Given the description of an element on the screen output the (x, y) to click on. 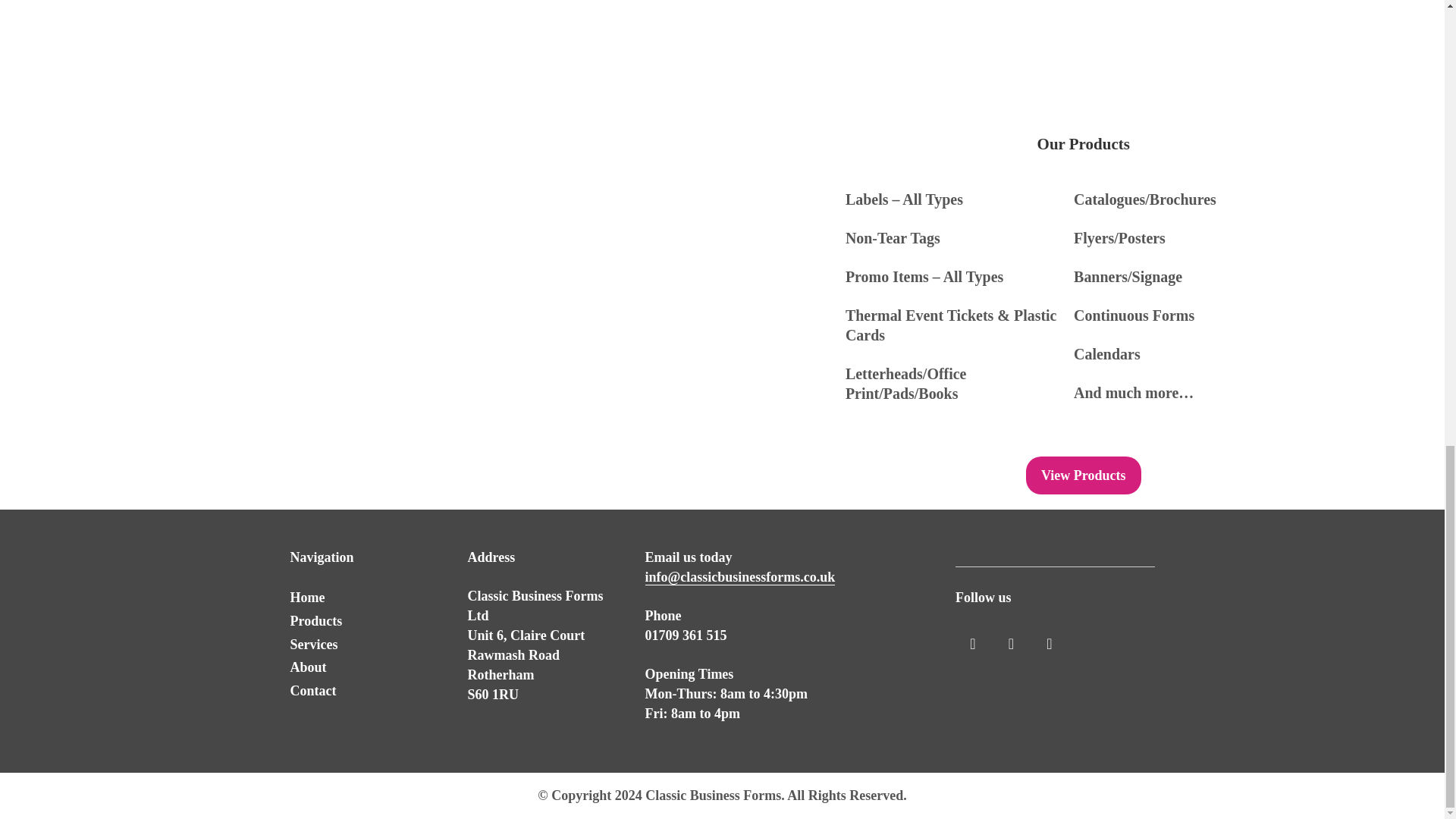
About (307, 667)
View Products (1083, 475)
Services (313, 644)
Home (306, 597)
Products (315, 620)
